Given the description of an element on the screen output the (x, y) to click on. 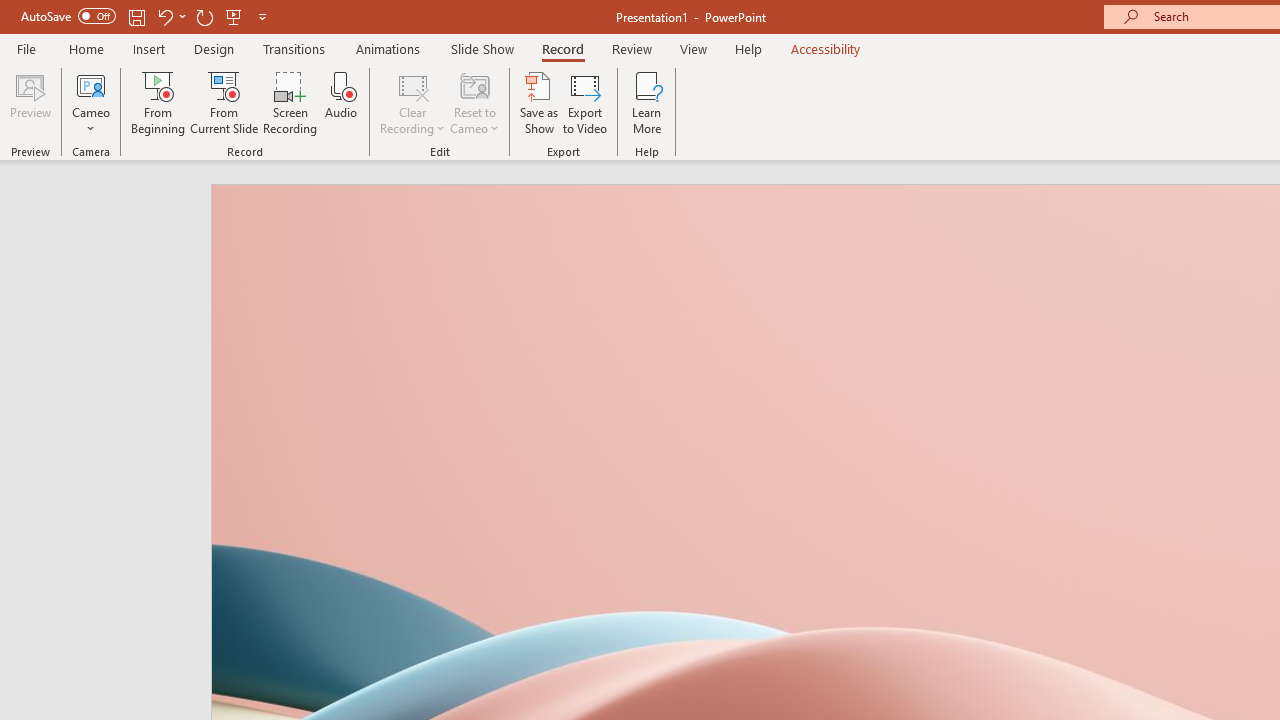
From Beginning... (158, 102)
Export to Video (585, 102)
